Given the description of an element on the screen output the (x, y) to click on. 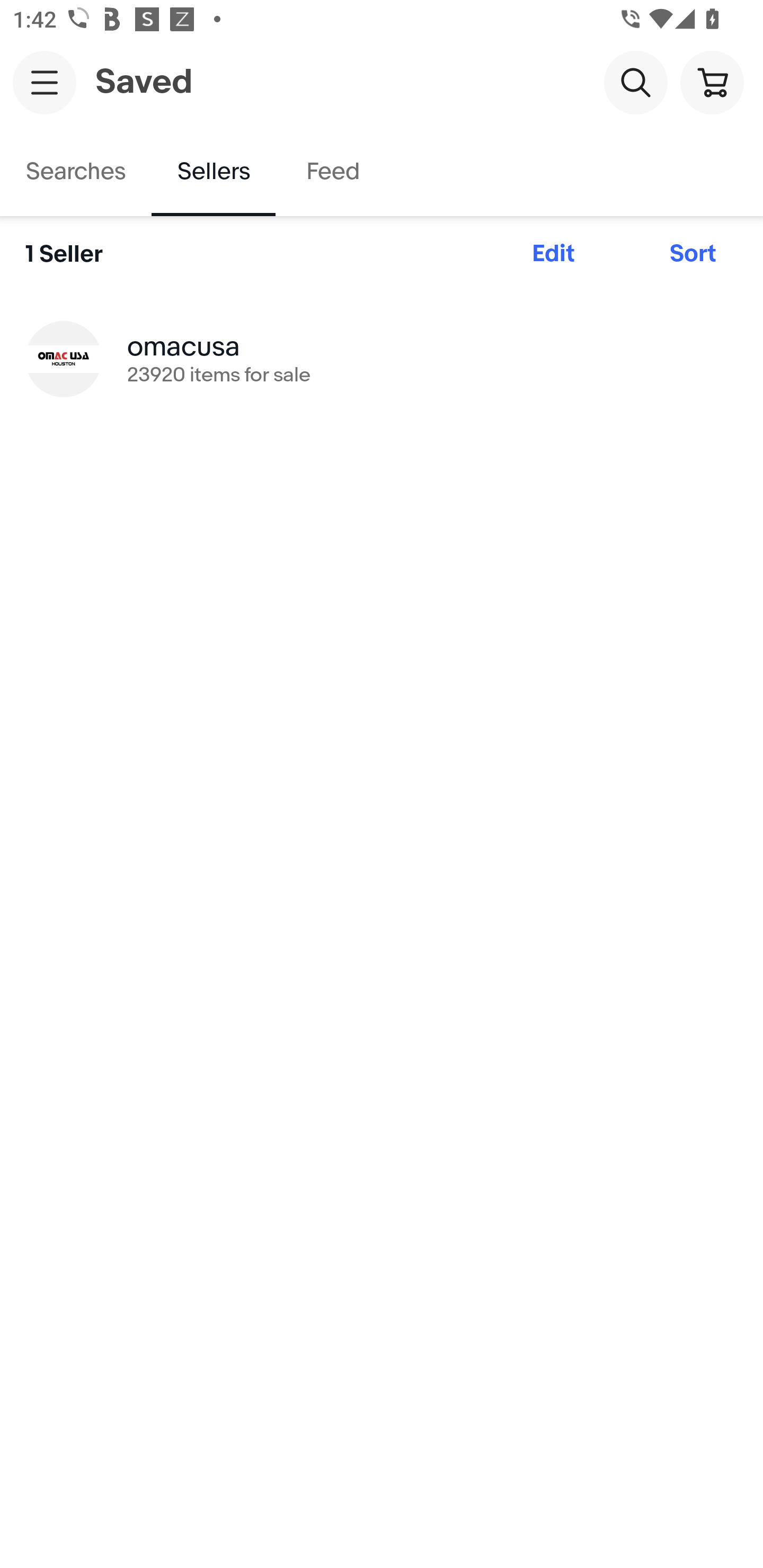
Main navigation, open (44, 82)
Search (635, 81)
Cart button shopping cart (711, 81)
Searches (75, 171)
Feed (332, 171)
Edit (552, 253)
Sort (693, 253)
omacusa 23920 items for sale (381, 357)
